Given the description of an element on the screen output the (x, y) to click on. 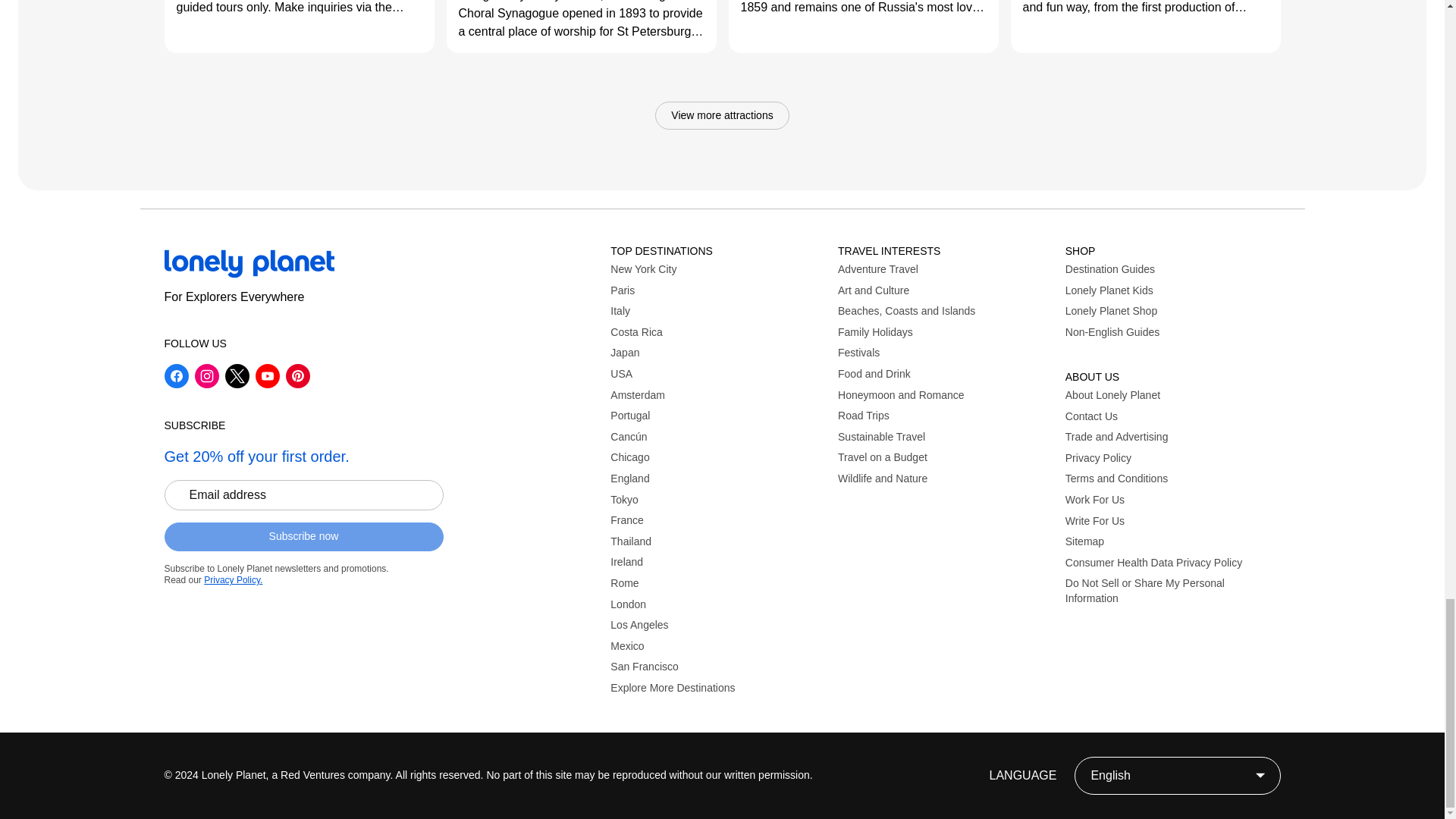
View more attractions (722, 115)
